Given the description of an element on the screen output the (x, y) to click on. 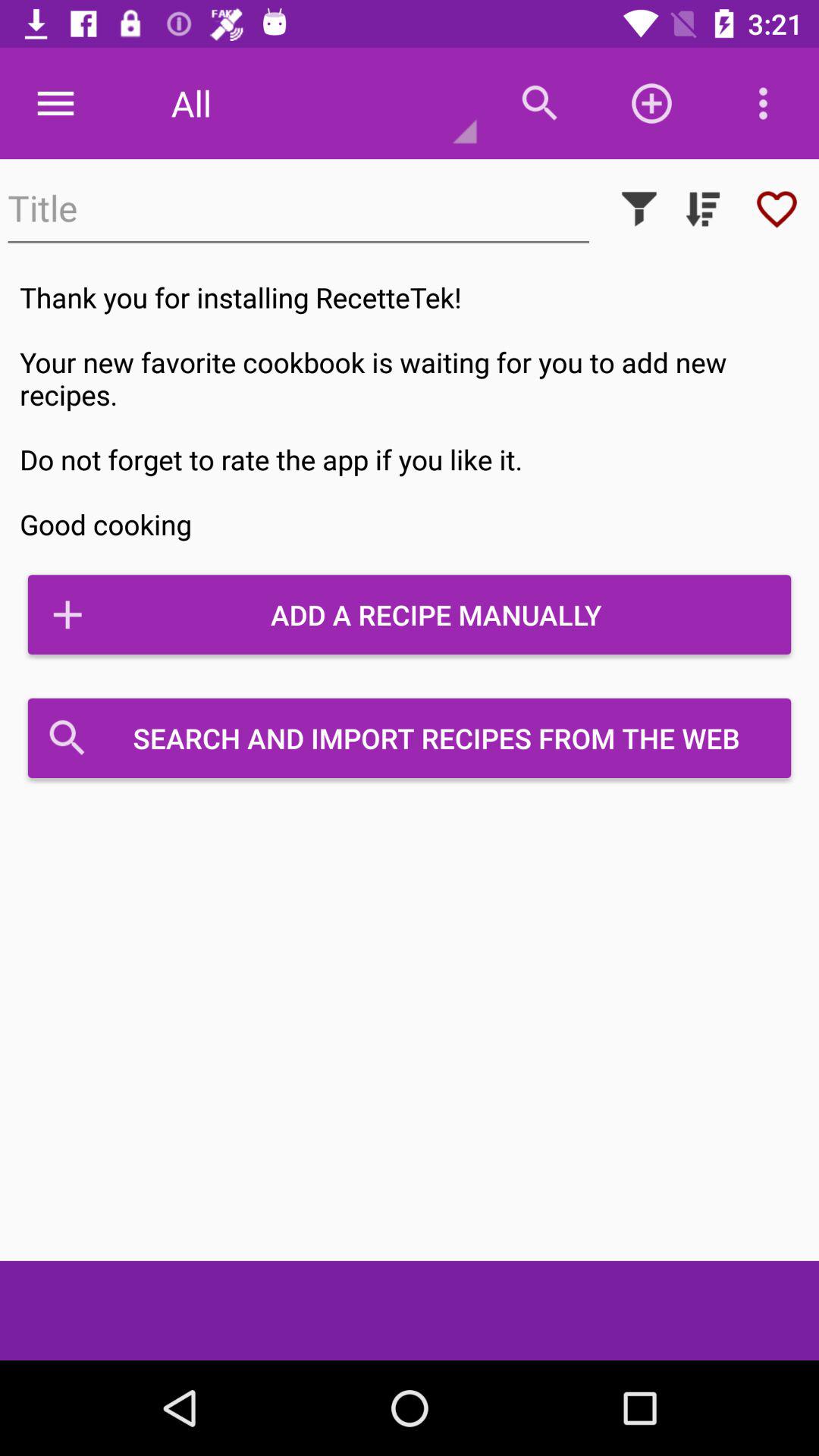
turn on icon to the left of all item (55, 103)
